Given the description of an element on the screen output the (x, y) to click on. 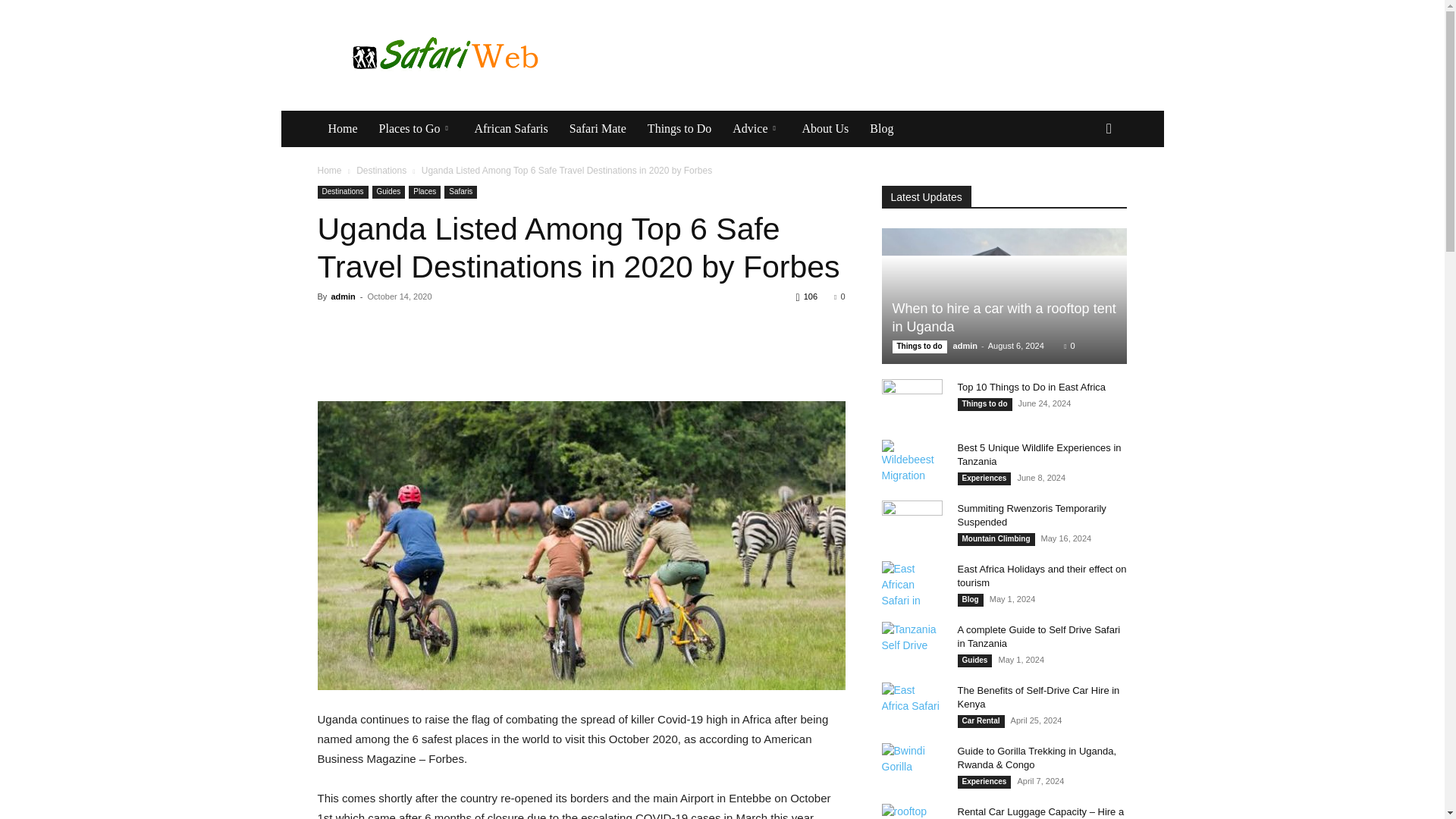
topFacebookLike (430, 324)
View all posts in Destinations (381, 170)
